Given the description of an element on the screen output the (x, y) to click on. 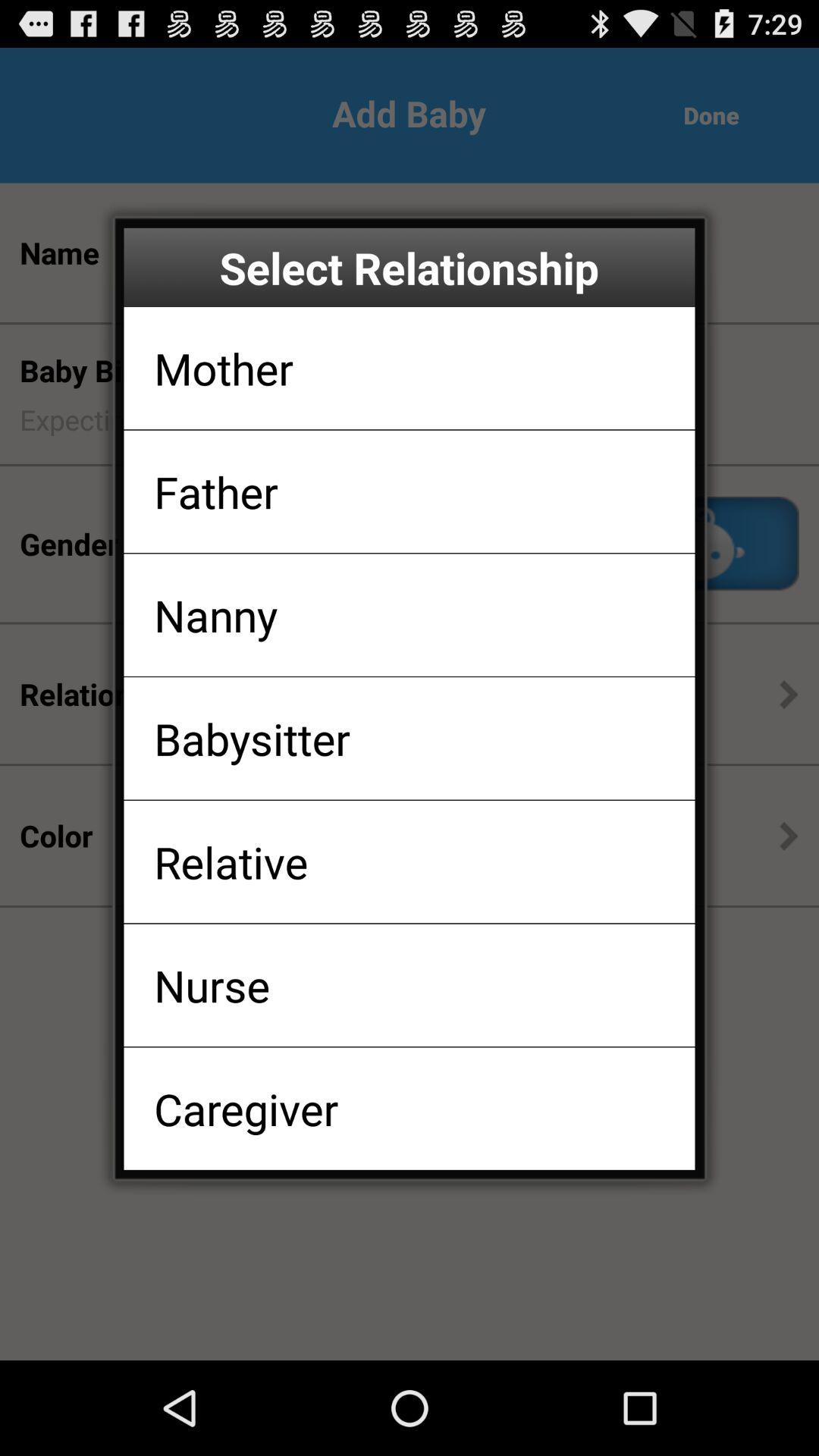
flip to nurse (212, 985)
